Given the description of an element on the screen output the (x, y) to click on. 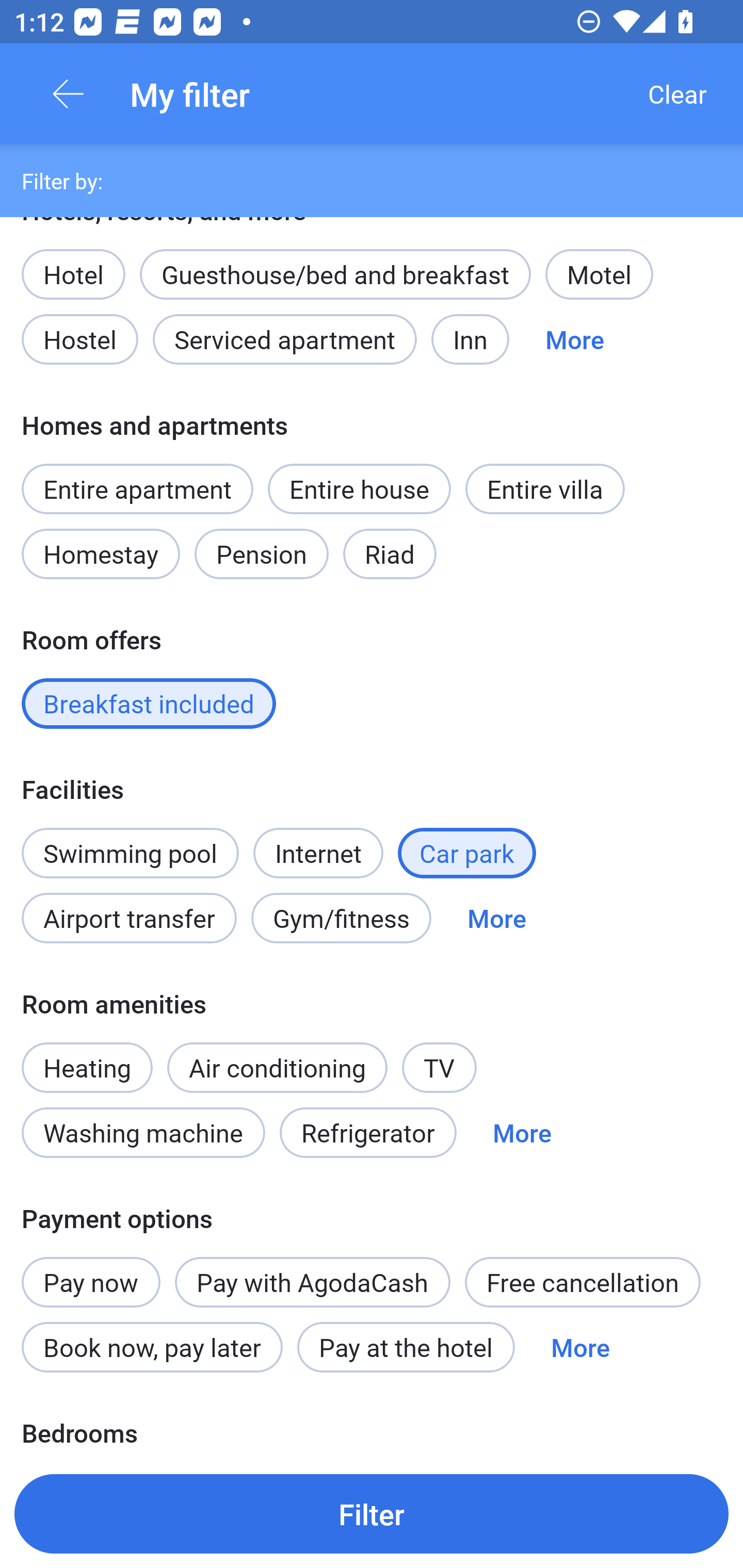
Clear (676, 93)
Hotel (73, 263)
Guesthouse/bed and breakfast (335, 274)
Motel (599, 274)
Hostel (79, 339)
Serviced apartment (284, 339)
Inn (470, 339)
More (574, 339)
Entire apartment (137, 488)
Entire house (359, 488)
Entire villa (544, 488)
Homestay (100, 554)
Pension (261, 554)
Riad (389, 554)
Swimming pool (130, 852)
Internet (318, 841)
Airport transfer (129, 917)
Gym/fitness (341, 917)
More (496, 917)
Heating (87, 1056)
Air conditioning (277, 1067)
TV (439, 1067)
Washing machine (143, 1132)
Refrigerator (367, 1132)
More (522, 1132)
Pay now (90, 1271)
Pay with AgodaCash (312, 1281)
Free cancellation (582, 1281)
Book now, pay later (152, 1347)
Pay at the hotel (405, 1347)
More (580, 1347)
Filter (371, 1513)
